Given the description of an element on the screen output the (x, y) to click on. 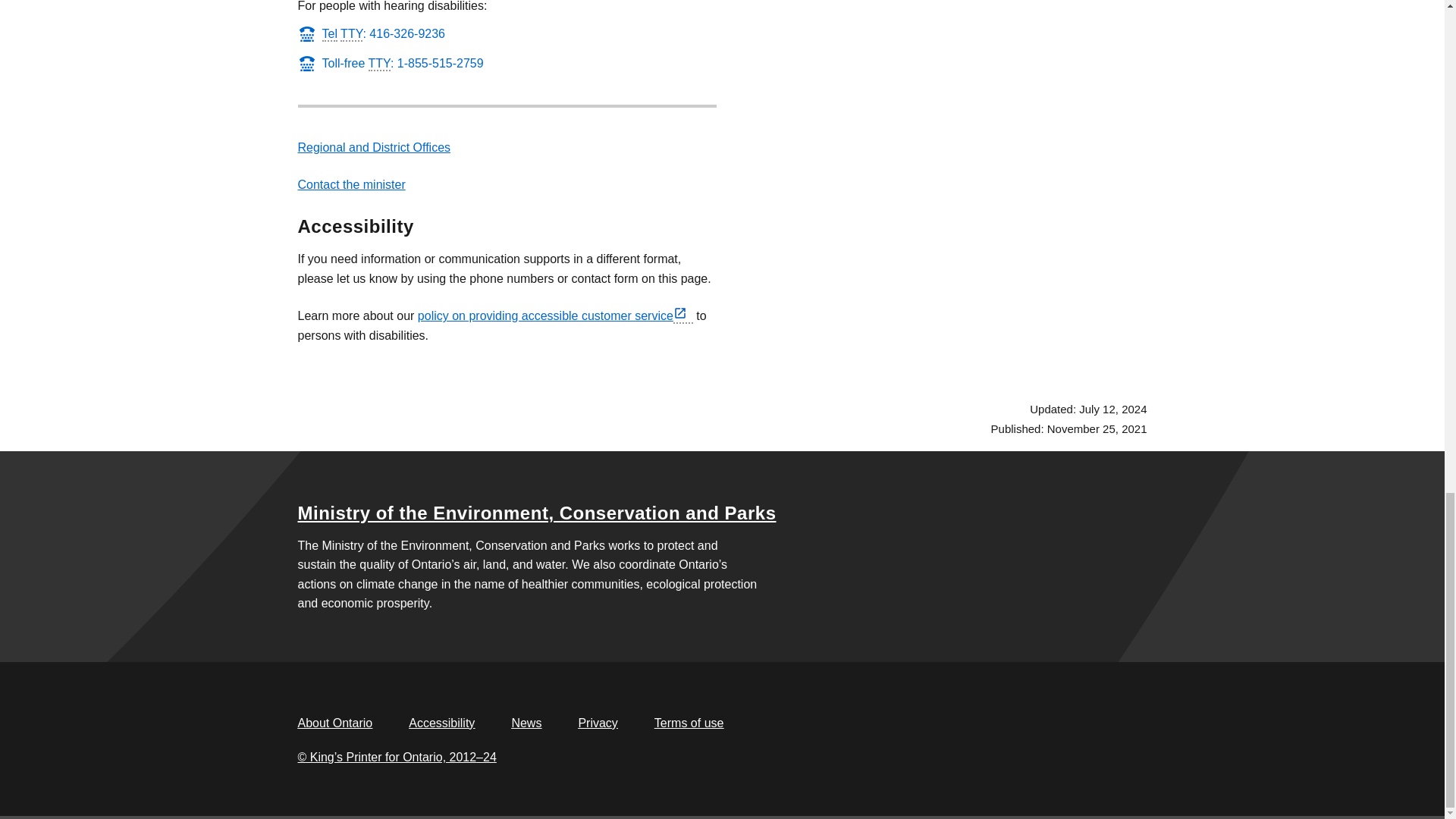
Regional and District Offices (373, 146)
opens new window (682, 316)
teletypewriter (379, 63)
Toll-free TTY: 1-855-515-2759 (390, 62)
teletypewriter (351, 34)
Tel TTY: 416-326-9236 (370, 33)
telephone (328, 34)
